Given the description of an element on the screen output the (x, y) to click on. 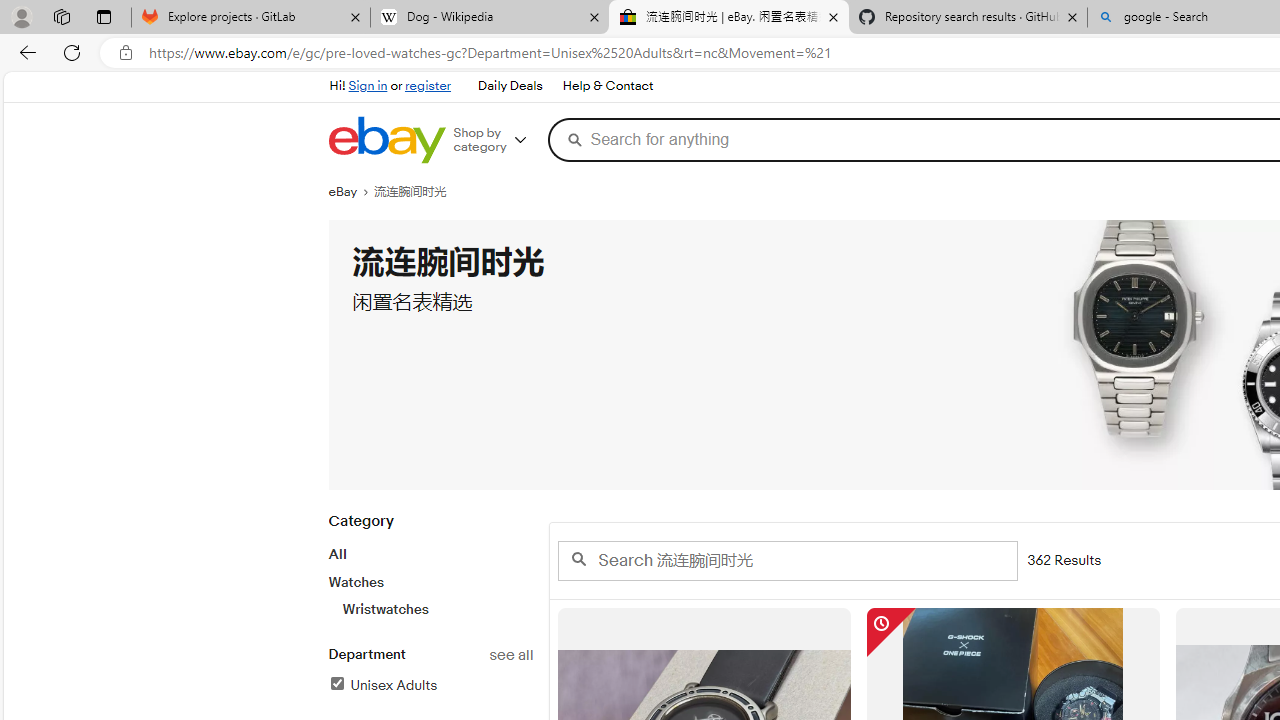
eBay (351, 191)
Unisex Adults Filter Applied (381, 685)
Shop by category (496, 140)
AllWatchesWristwatches (430, 581)
register (427, 85)
Sign in (367, 85)
Workspaces (61, 16)
Wristwatches (437, 609)
Daily Deals (509, 85)
